Given the description of an element on the screen output the (x, y) to click on. 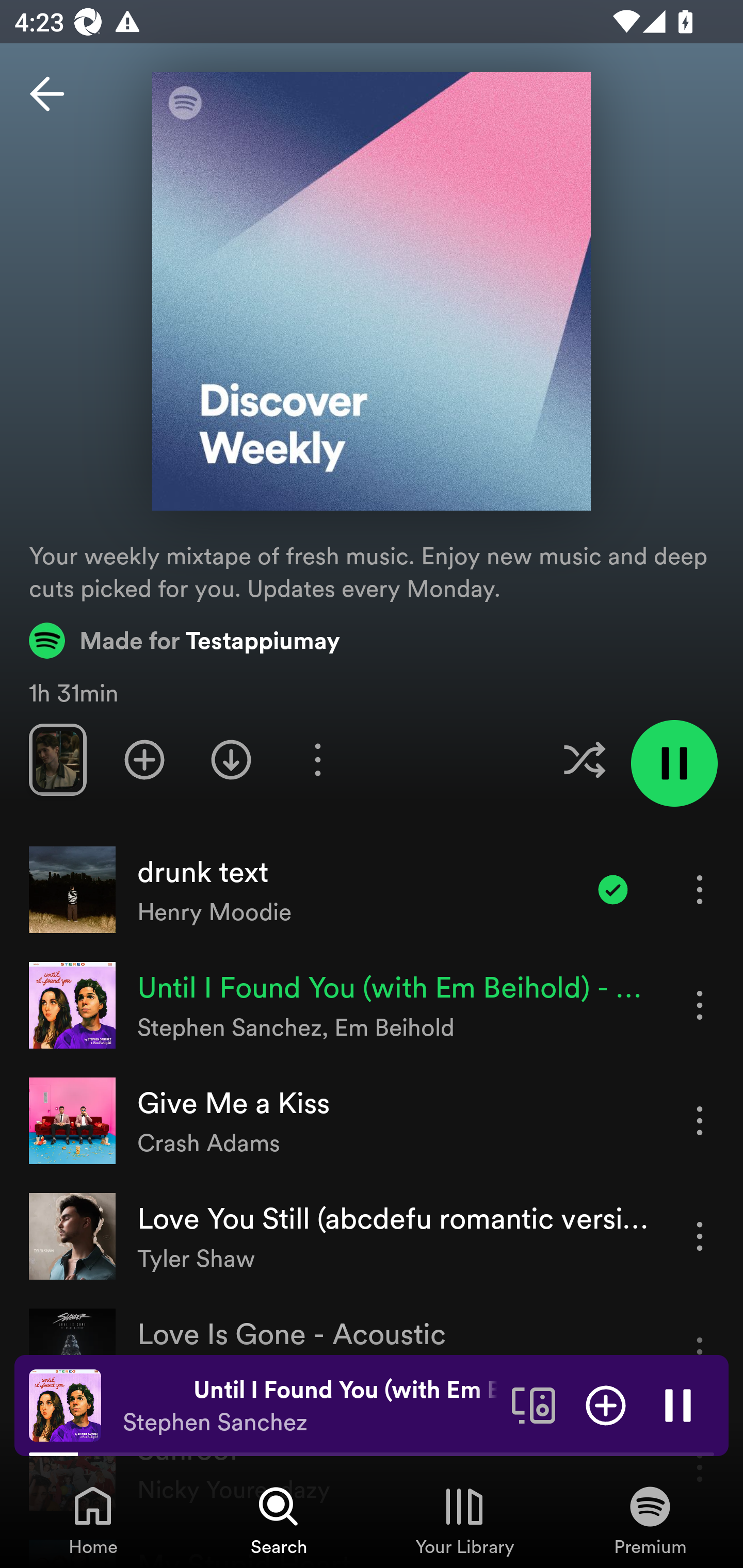
Back (46, 93)
Made for Testappiumay (184, 640)
Swipe through previews of tracks in this playlist. (57, 759)
Add playlist to Your Library (144, 759)
Download (230, 759)
More options for playlist Discover Weekly (317, 759)
Enable shuffle for this playlist (583, 759)
Pause playlist (674, 763)
Item added (612, 889)
More options for song drunk text (699, 889)
More options for song Give Me a Kiss (699, 1120)
The cover art of the currently playing track (64, 1404)
Connect to a device. Opens the devices menu (533, 1404)
Add item (605, 1404)
Pause (677, 1404)
Home, Tab 1 of 4 Home Home (92, 1519)
Search, Tab 2 of 4 Search Search (278, 1519)
Your Library, Tab 3 of 4 Your Library Your Library (464, 1519)
Premium, Tab 4 of 4 Premium Premium (650, 1519)
